Given the description of an element on the screen output the (x, y) to click on. 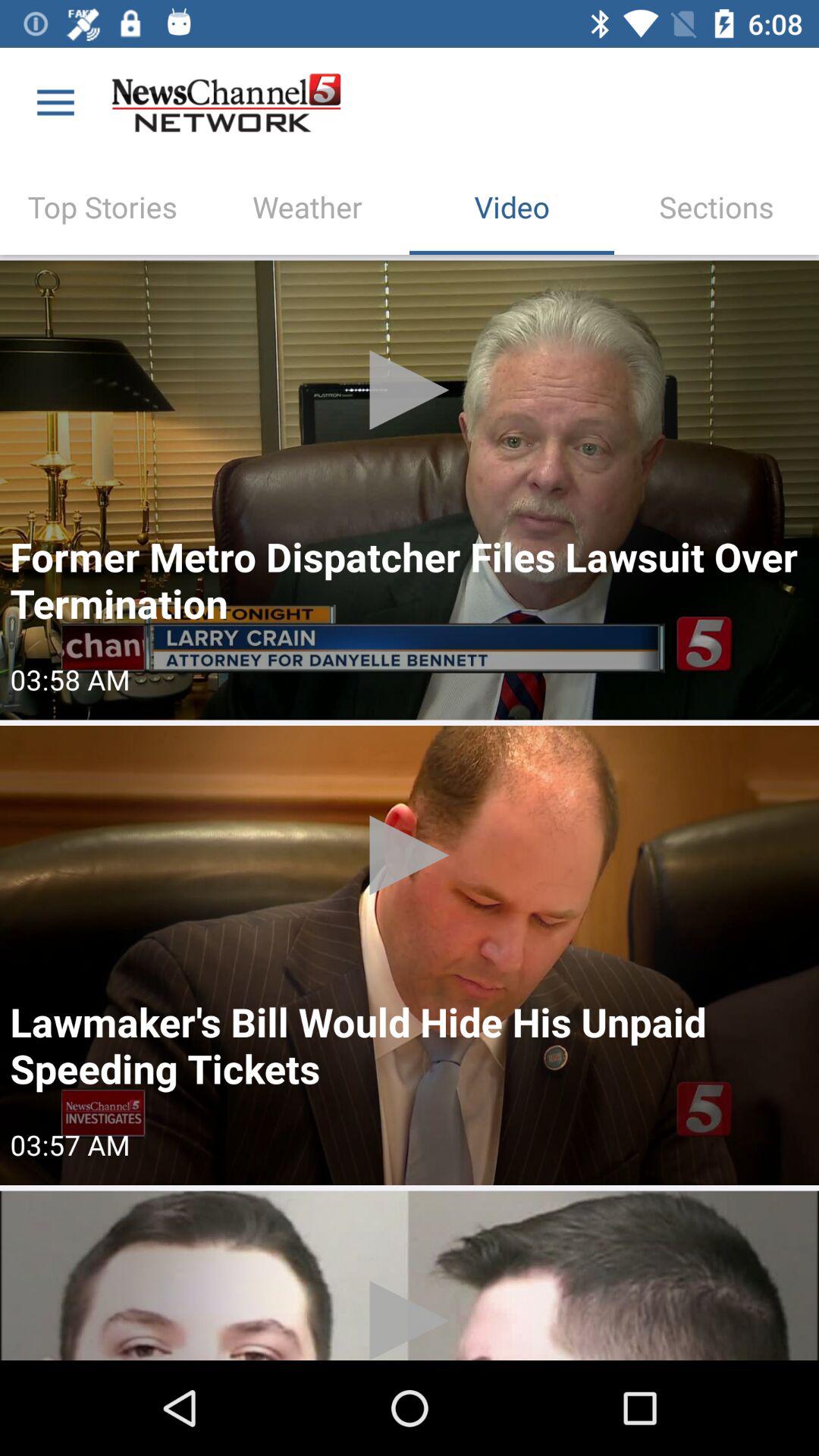
play bottom video (409, 1275)
